Given the description of an element on the screen output the (x, y) to click on. 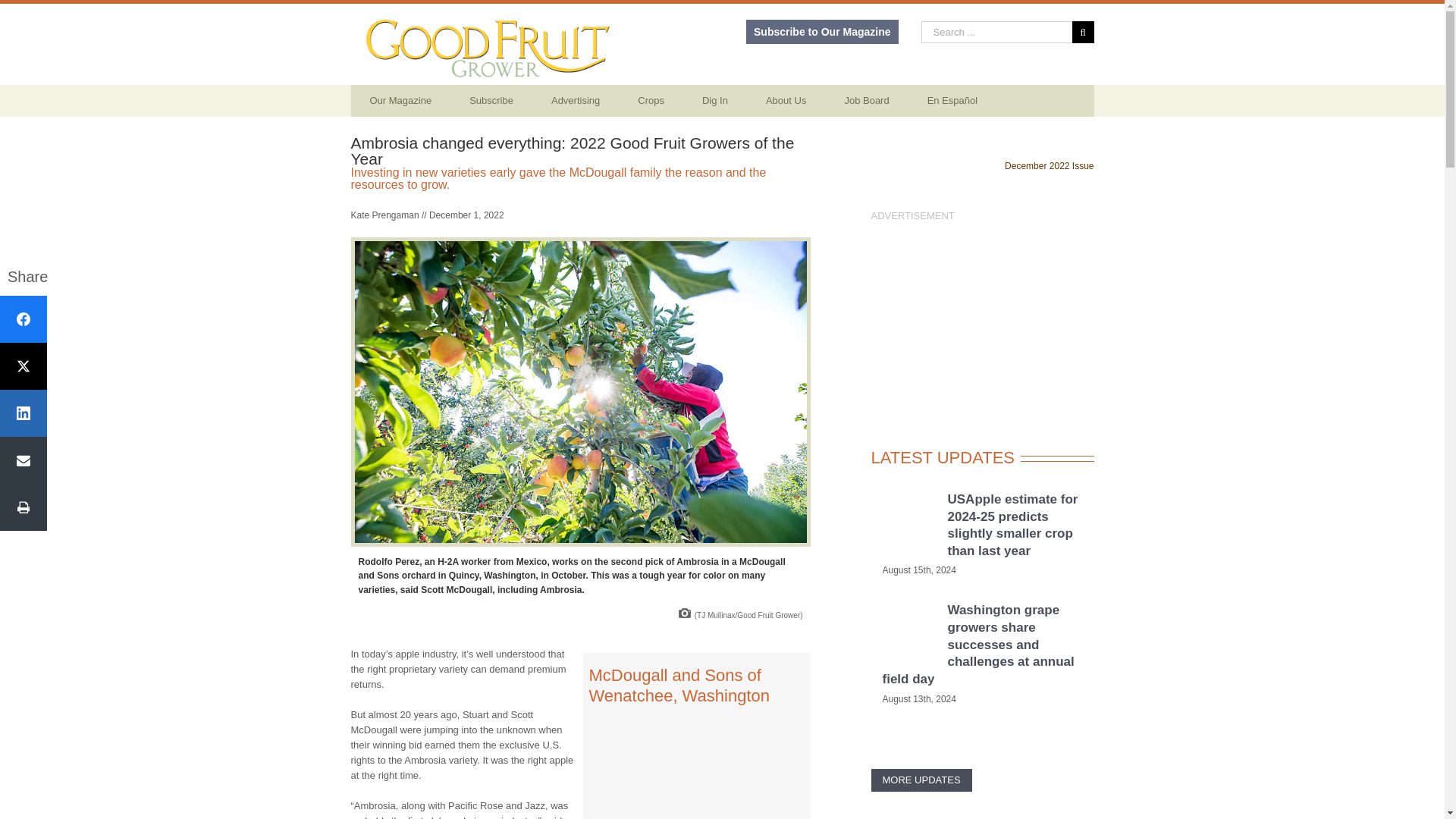
Subscribe to Our Magazine (821, 31)
Subscribe (490, 101)
About Us (785, 101)
Our Magazine (400, 101)
Advertising (575, 101)
